Given the description of an element on the screen output the (x, y) to click on. 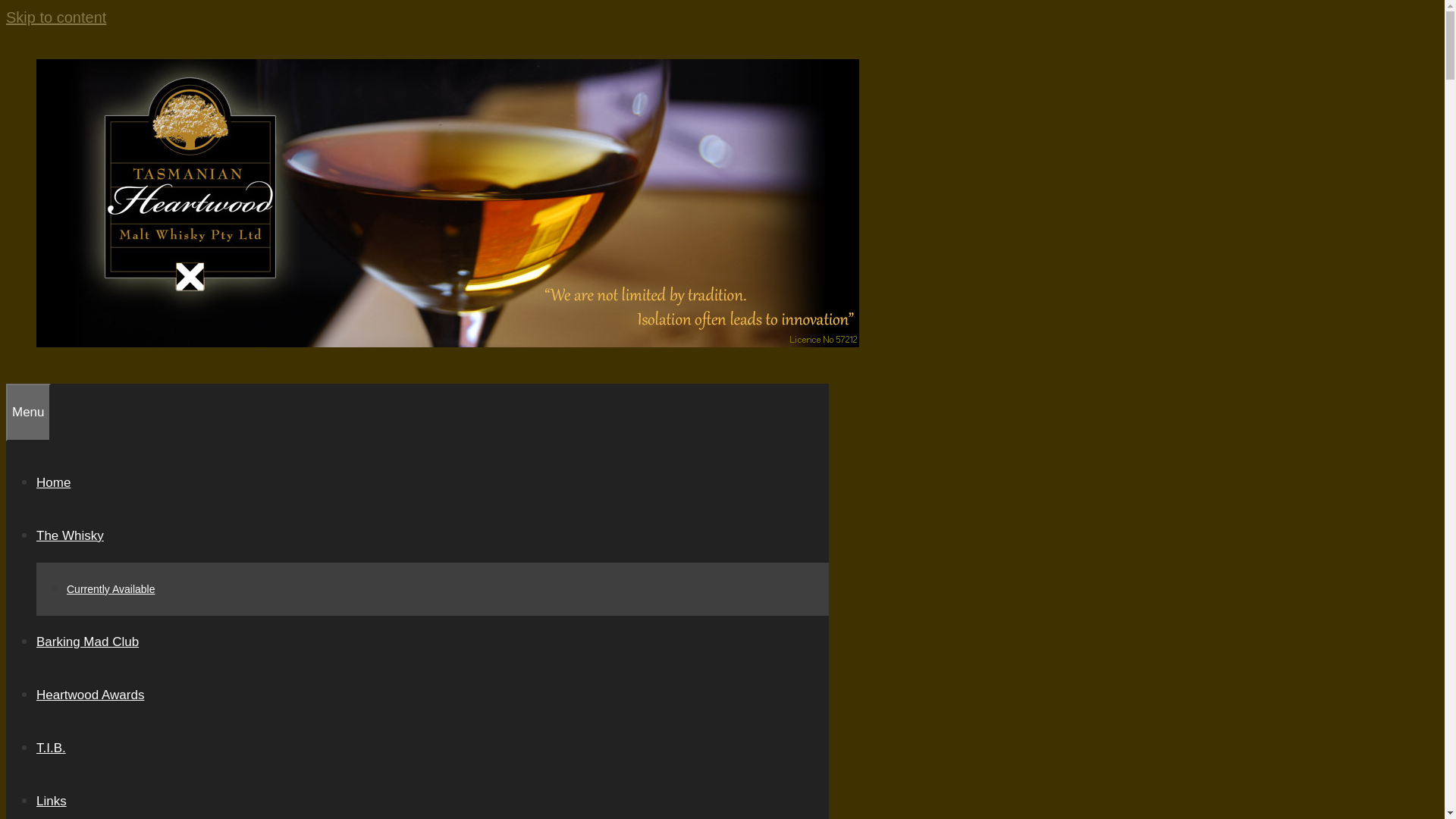
The Whisky Element type: text (69, 535)
Barking Mad Club Element type: text (87, 641)
Skip to content Element type: text (56, 17)
Home Element type: text (53, 482)
T.I.B. Element type: text (50, 747)
Currently Available Element type: text (110, 589)
Links Element type: text (51, 800)
Menu Element type: text (28, 412)
Heartwood Awards Element type: text (90, 694)
